Given the description of an element on the screen output the (x, y) to click on. 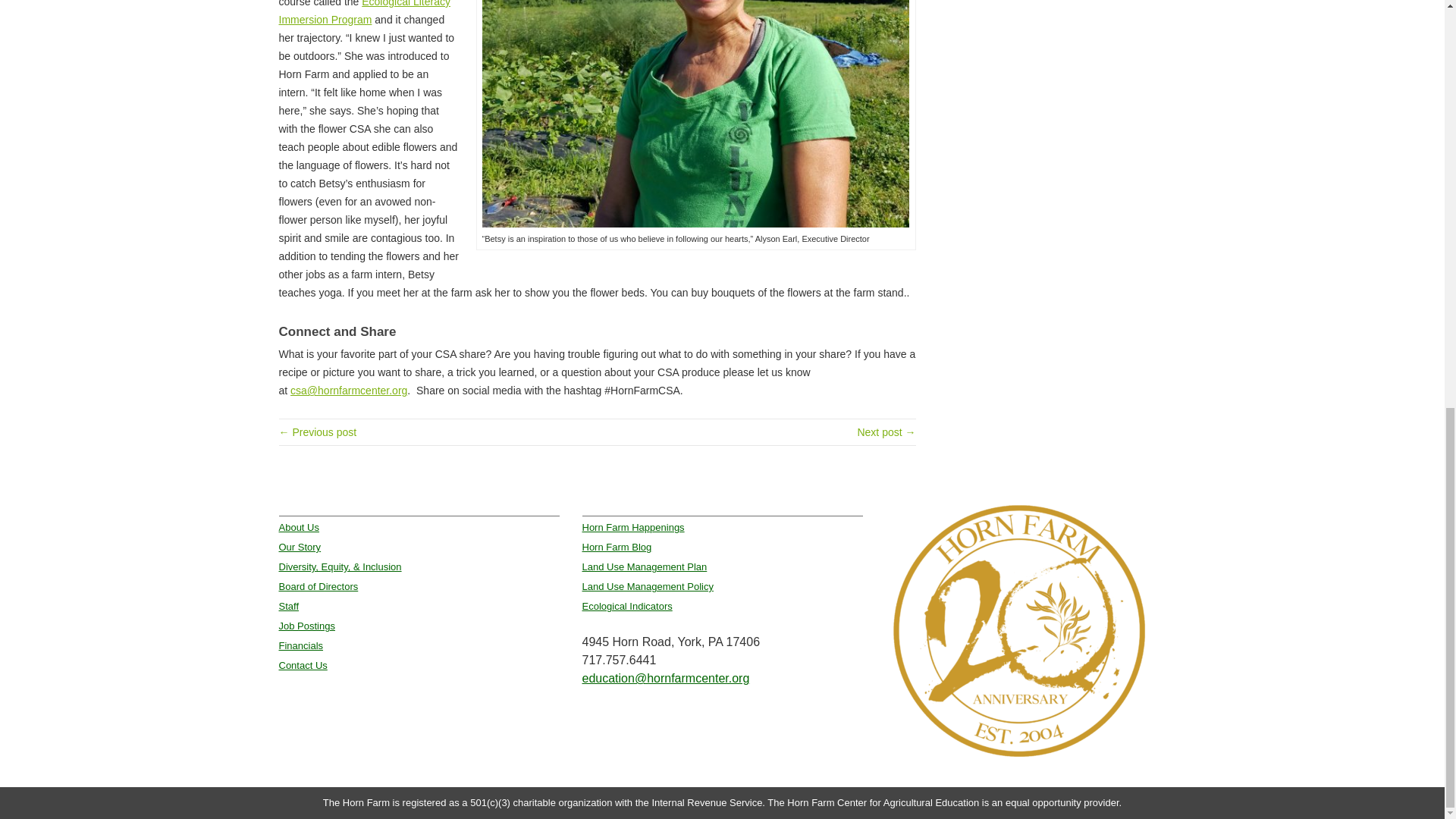
Horn Farm Happenings - October 13 (886, 431)
Horn Farm Happenings - October 6 (317, 431)
